Given the description of an element on the screen output the (x, y) to click on. 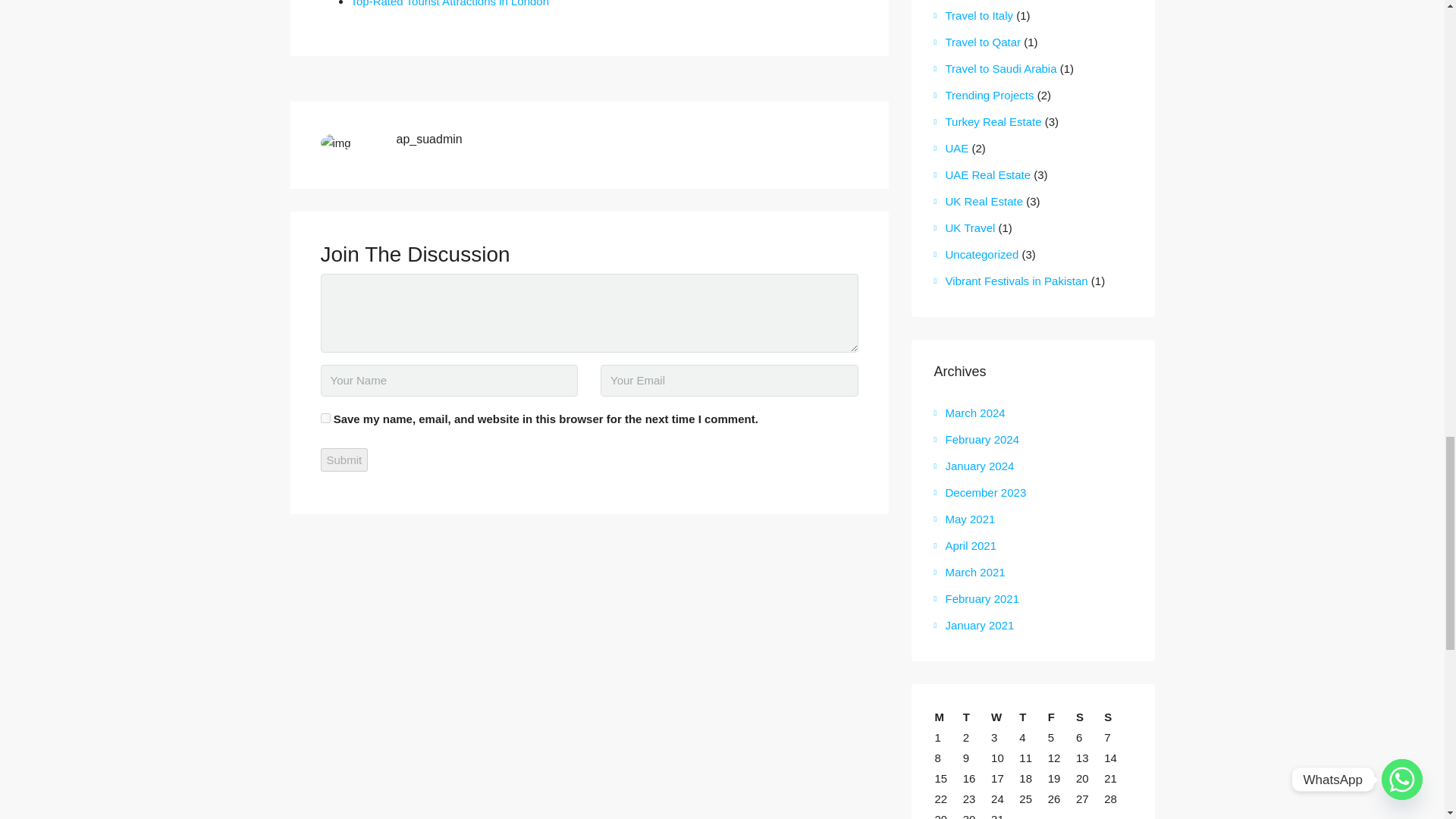
Thursday (1031, 716)
Sunday (1117, 716)
Wednesday (1003, 716)
Tuesday (976, 716)
Monday (948, 716)
Saturday (1089, 716)
Friday (1060, 716)
Submit (344, 459)
yes (325, 418)
